Given the description of an element on the screen output the (x, y) to click on. 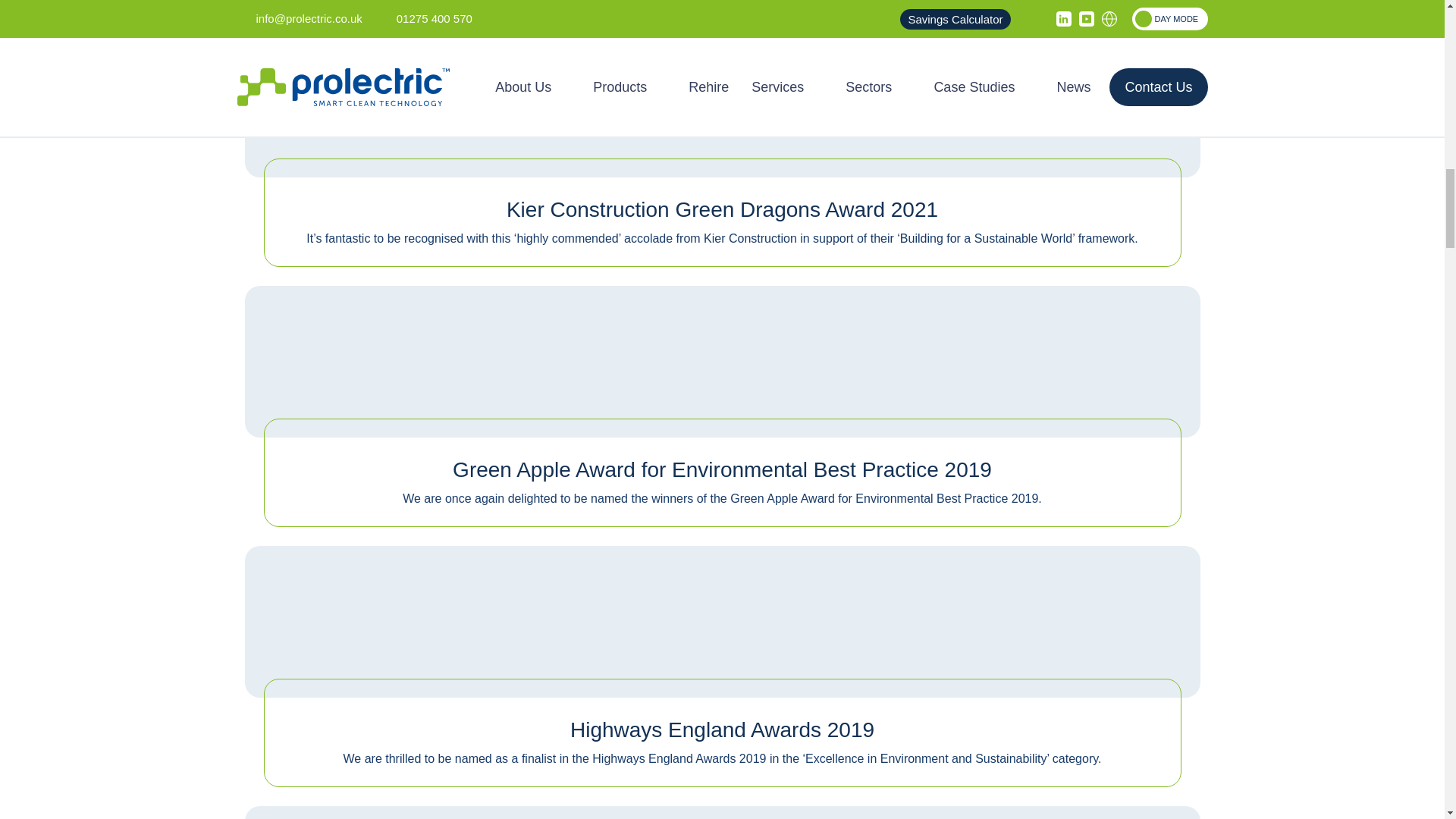
Highways England Awards 2019 (721, 611)
Green Apple Award for Environmental Best Practice 2019 (721, 351)
Kier Construction Green Dragons Award 2021 (721, 92)
